Given the description of an element on the screen output the (x, y) to click on. 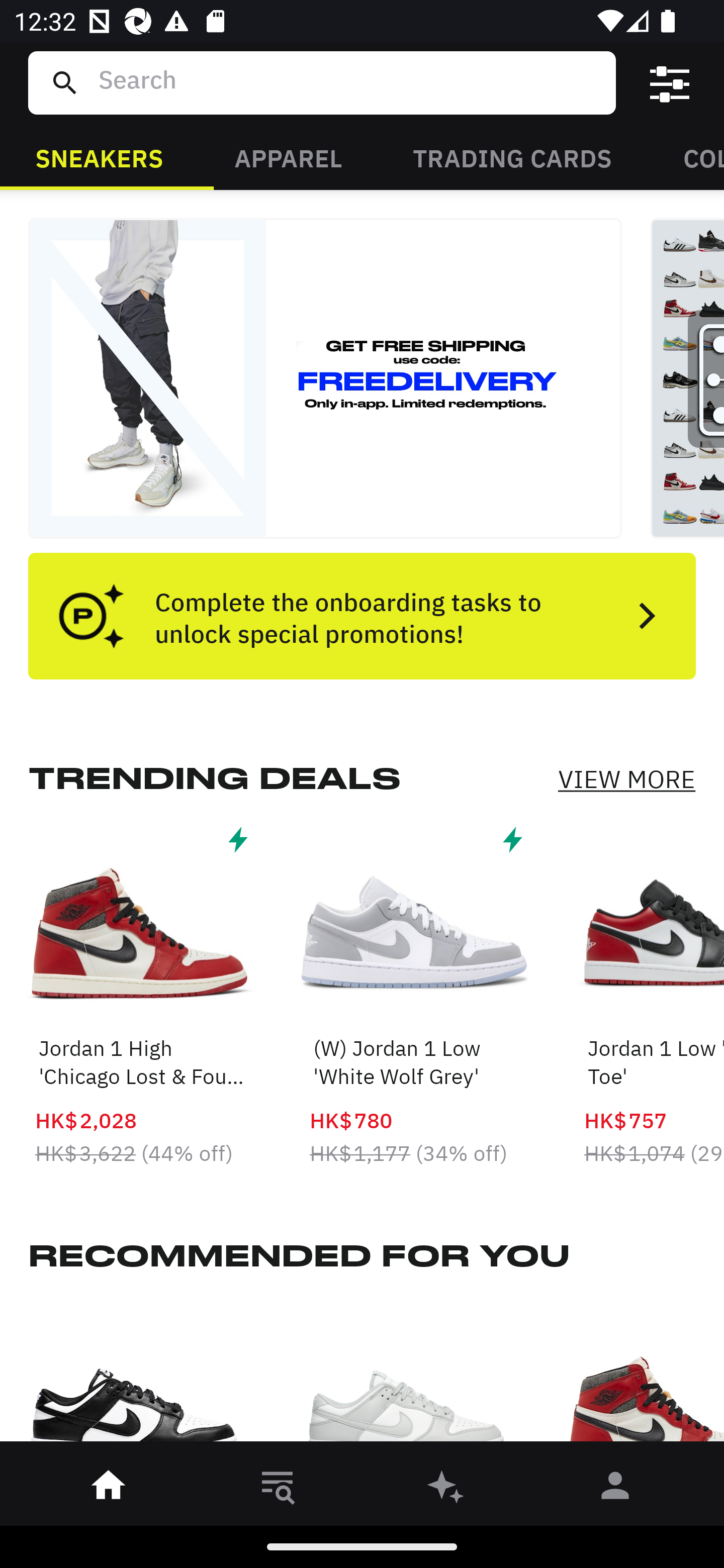
Search (349, 82)
 (669, 82)
SNEAKERS (99, 156)
APPAREL (287, 156)
TRADING CARDS (512, 156)
VIEW MORE (626, 779)
󰋜 (108, 1488)
󱎸 (277, 1488)
󰫢 (446, 1488)
󰀄 (615, 1488)
